Given the description of an element on the screen output the (x, y) to click on. 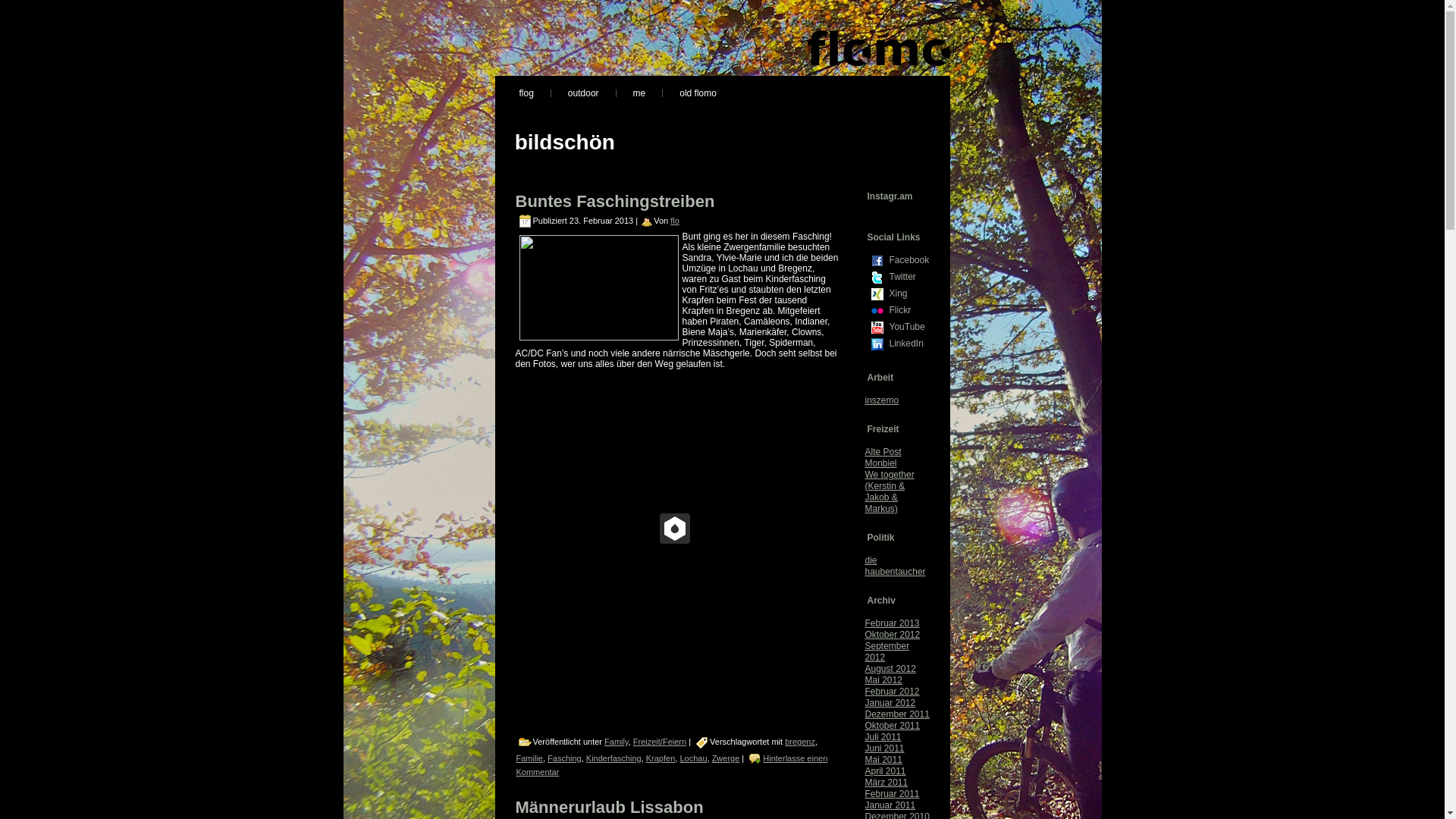
Krapfen Element type: text (660, 757)
Buntes Faschingstreiben Element type: text (615, 200)
Januar 2011 Element type: text (889, 805)
Alte Post Monbiel Element type: text (882, 457)
Xing Element type: hover (876, 294)
bregenz Element type: text (799, 741)
LinkedIn Element type: text (908, 343)
old flomo Element type: text (697, 93)
outdoor Element type: text (583, 93)
YouTube Element type: text (908, 326)
Twitter Element type: text (908, 276)
Juni 2011 Element type: text (883, 748)
Mai 2011 Element type: text (882, 759)
Februar 2011 Element type: text (891, 793)
die haubentaucher Element type: text (894, 566)
April 2011 Element type: text (884, 770)
Juli 2011 Element type: text (882, 736)
Februar 2012 Element type: text (891, 691)
me Element type: text (639, 93)
flog Element type: text (525, 93)
Lochau Element type: text (692, 757)
Facebook Element type: hover (876, 260)
Fasching Element type: text (564, 757)
inszemo Element type: text (881, 400)
Facebook Element type: text (908, 259)
September 2012 Element type: text (886, 651)
Twitter Element type: hover (876, 277)
August 2012 Element type: text (889, 668)
Family Element type: text (616, 741)
Flickr Element type: text (908, 309)
Hinterlasse einen Kommentar Element type: text (671, 764)
YouTube Element type: hover (876, 327)
flo Element type: text (674, 220)
Kinderfasching Element type: text (613, 757)
Oktober 2012 Element type: text (891, 634)
We together (Kerstin & Jakob & Markus) Element type: text (888, 491)
Familie Element type: text (528, 757)
Januar 2012 Element type: text (889, 702)
Zwergenfamilie Element type: hover (597, 287)
LinkedIn Element type: hover (876, 344)
Dezember 2011 Element type: text (896, 714)
Zwerge Element type: text (726, 757)
Flickr Element type: hover (876, 310)
Februar 2013 Element type: text (891, 623)
Oktober 2011 Element type: text (891, 725)
Mai 2012 Element type: text (882, 679)
Freizeit/Feiern Element type: text (659, 741)
Xing Element type: text (908, 293)
